Given the description of an element on the screen output the (x, y) to click on. 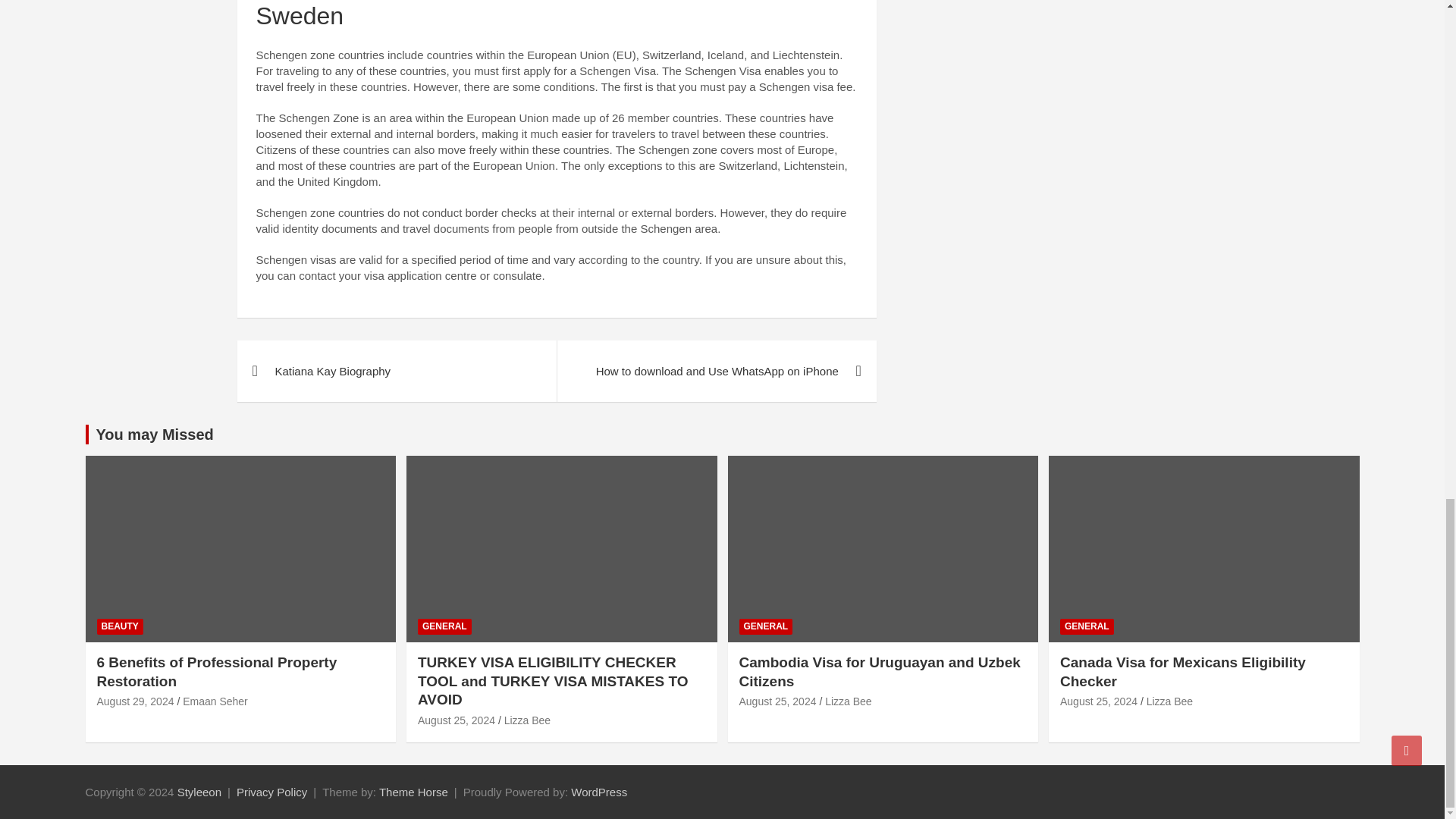
WordPress (598, 791)
Canada Visa for Mexicans Eligibility Checker (1098, 701)
How to download and Use WhatsApp on iPhone (716, 371)
Cambodia Visa for Uruguayan and Uzbek Citizens (776, 701)
6 Benefits of Professional Property Restoration (135, 701)
Styleeon (199, 791)
Theme Horse (413, 791)
Katiana Kay Biography (395, 371)
